Given the description of an element on the screen output the (x, y) to click on. 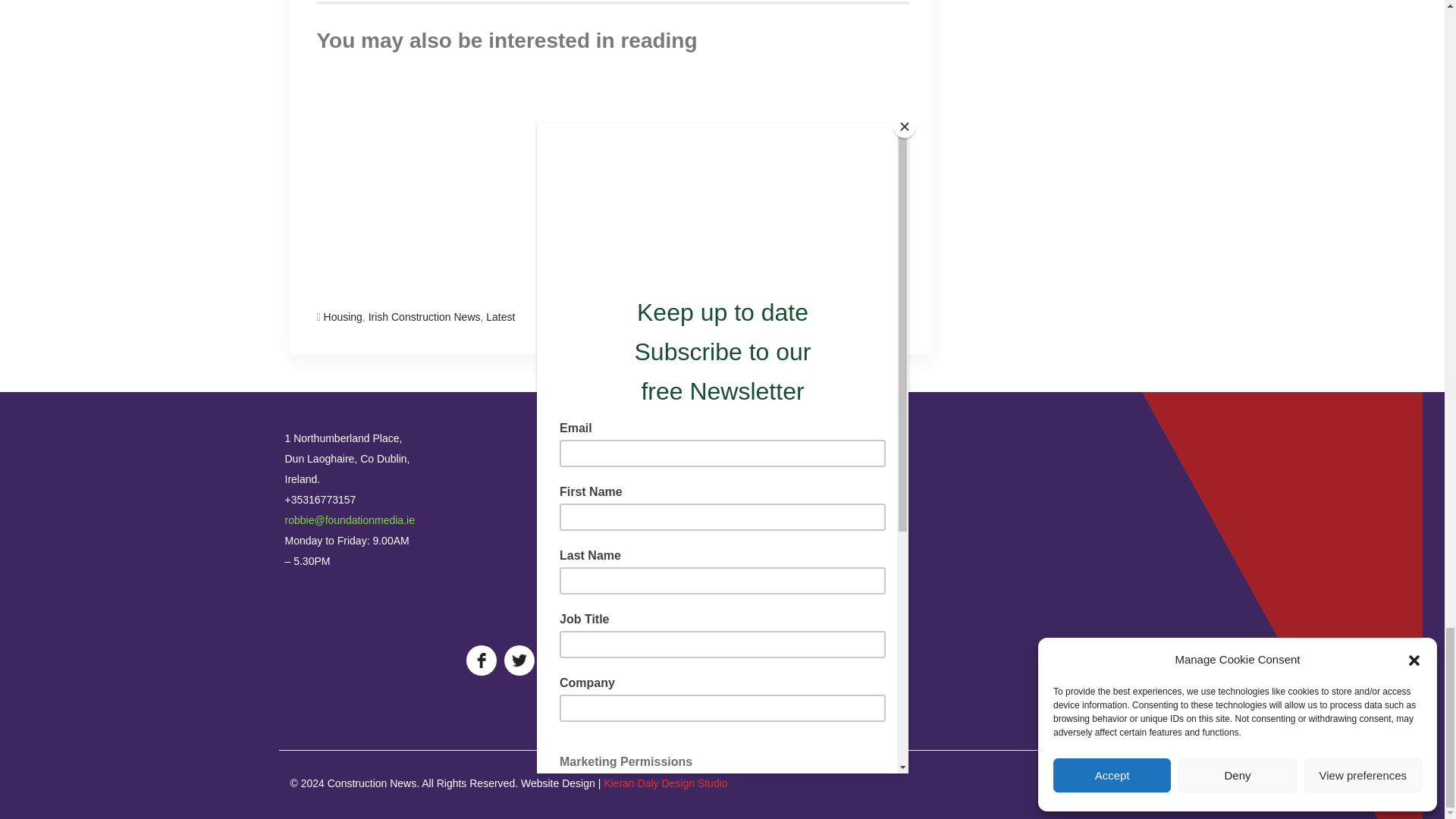
Facebook (1097, 784)
Linked In (1142, 784)
Twitter (1119, 784)
